Given the description of an element on the screen output the (x, y) to click on. 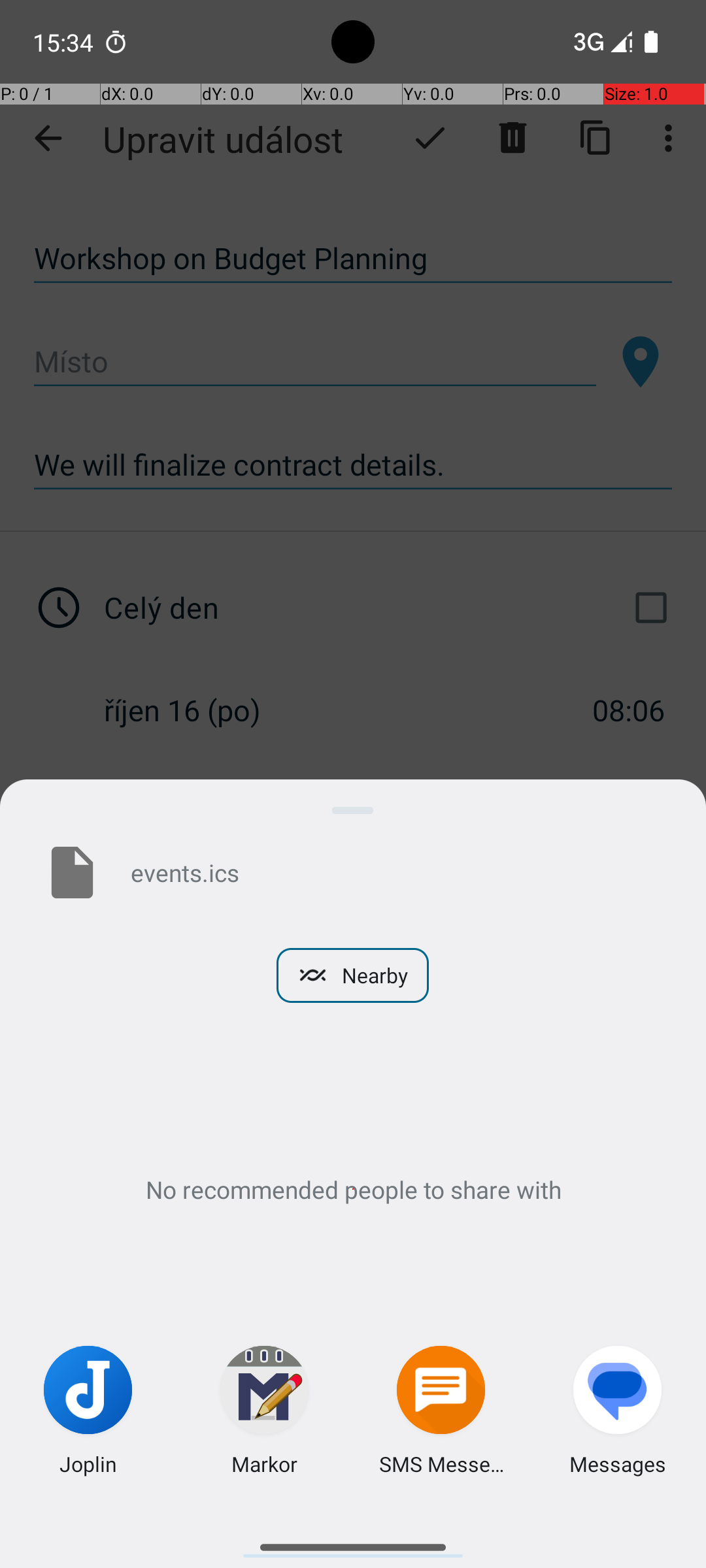
events.ics Element type: android.widget.TextView (397, 872)
